Given the description of an element on the screen output the (x, y) to click on. 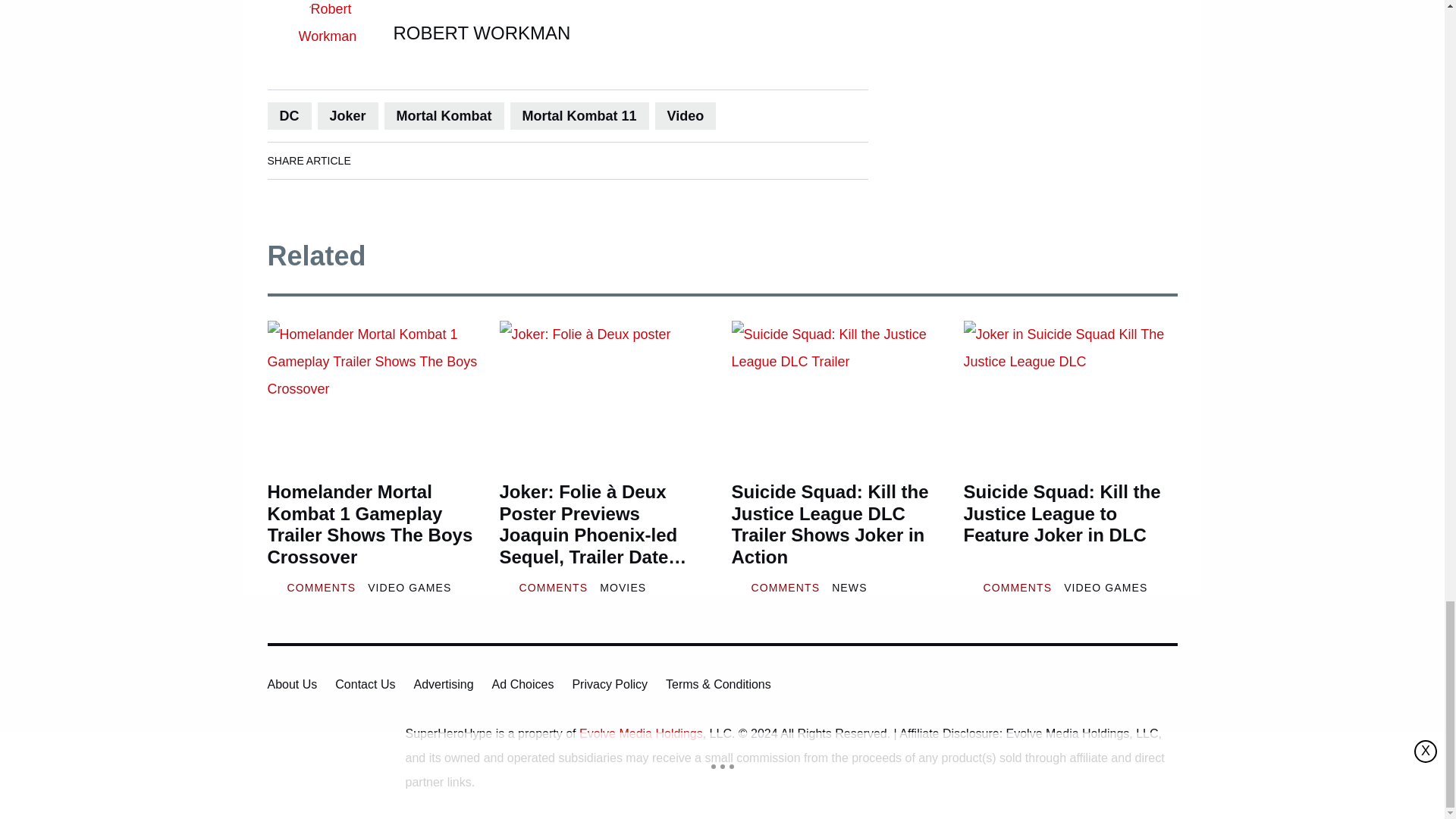
Mortal Kombat 11 (580, 115)
Video (685, 115)
ROBERT WORKMAN (481, 32)
Joker (347, 115)
LinkedIn (420, 160)
DC (288, 115)
Pinterest (505, 160)
Facebook (377, 160)
Mortal Kombat (443, 115)
Twitter (463, 160)
